Given the description of an element on the screen output the (x, y) to click on. 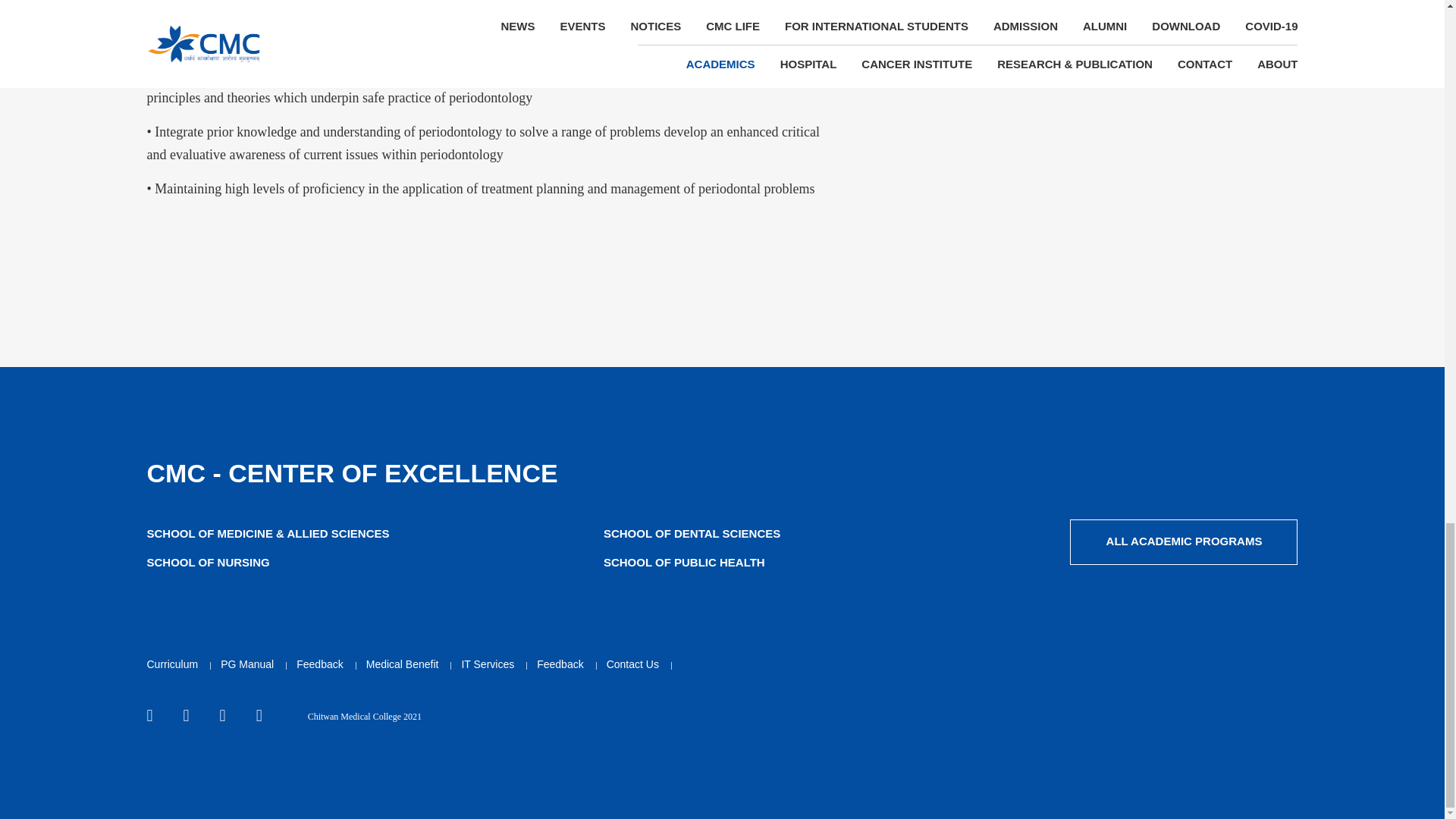
PG Manual (695, 533)
ALL ACADEMIC PROGRAMS (247, 663)
Curriculum (1183, 542)
